Given the description of an element on the screen output the (x, y) to click on. 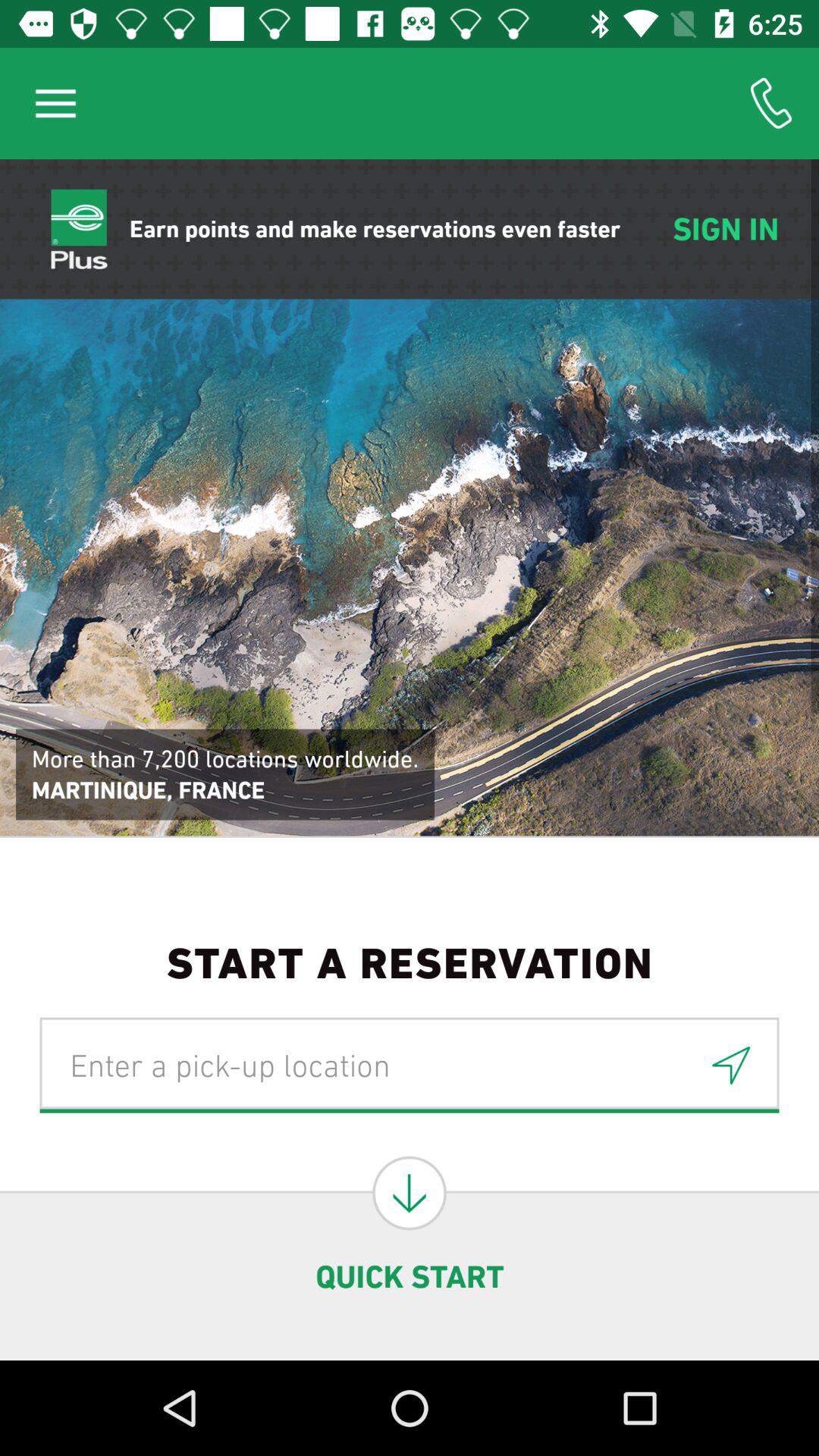
search locations (409, 1193)
